Given the description of an element on the screen output the (x, y) to click on. 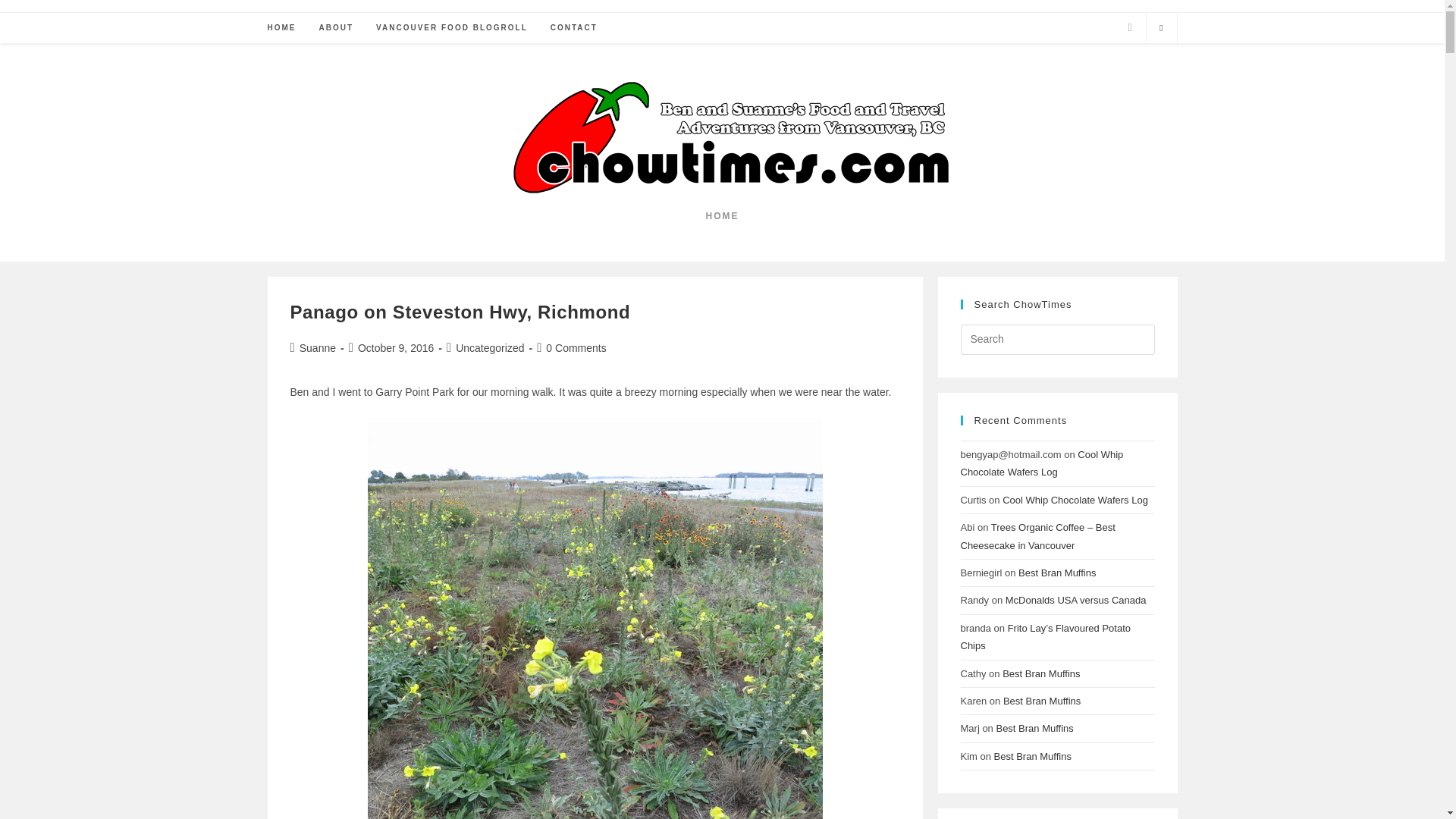
0 Comments (575, 347)
Panago on Steveston Hwy, Richmond (459, 312)
VANCOUVER FOOD BLOGROLL (451, 28)
Posts by Suanne (317, 347)
CONTACT (573, 28)
Suanne (317, 347)
ABOUT (336, 28)
Uncategorized (489, 347)
HOME (281, 28)
